Given the description of an element on the screen output the (x, y) to click on. 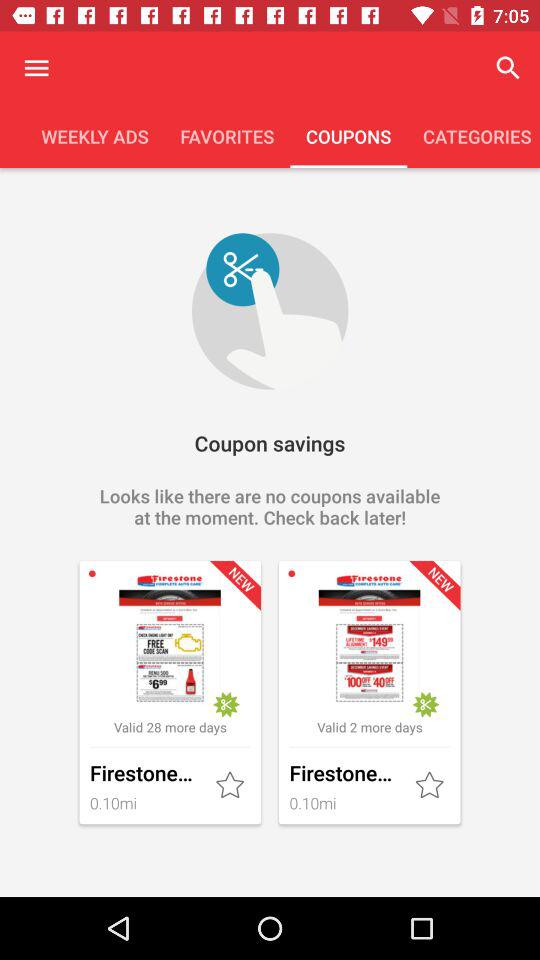
open the menu (36, 68)
